Given the description of an element on the screen output the (x, y) to click on. 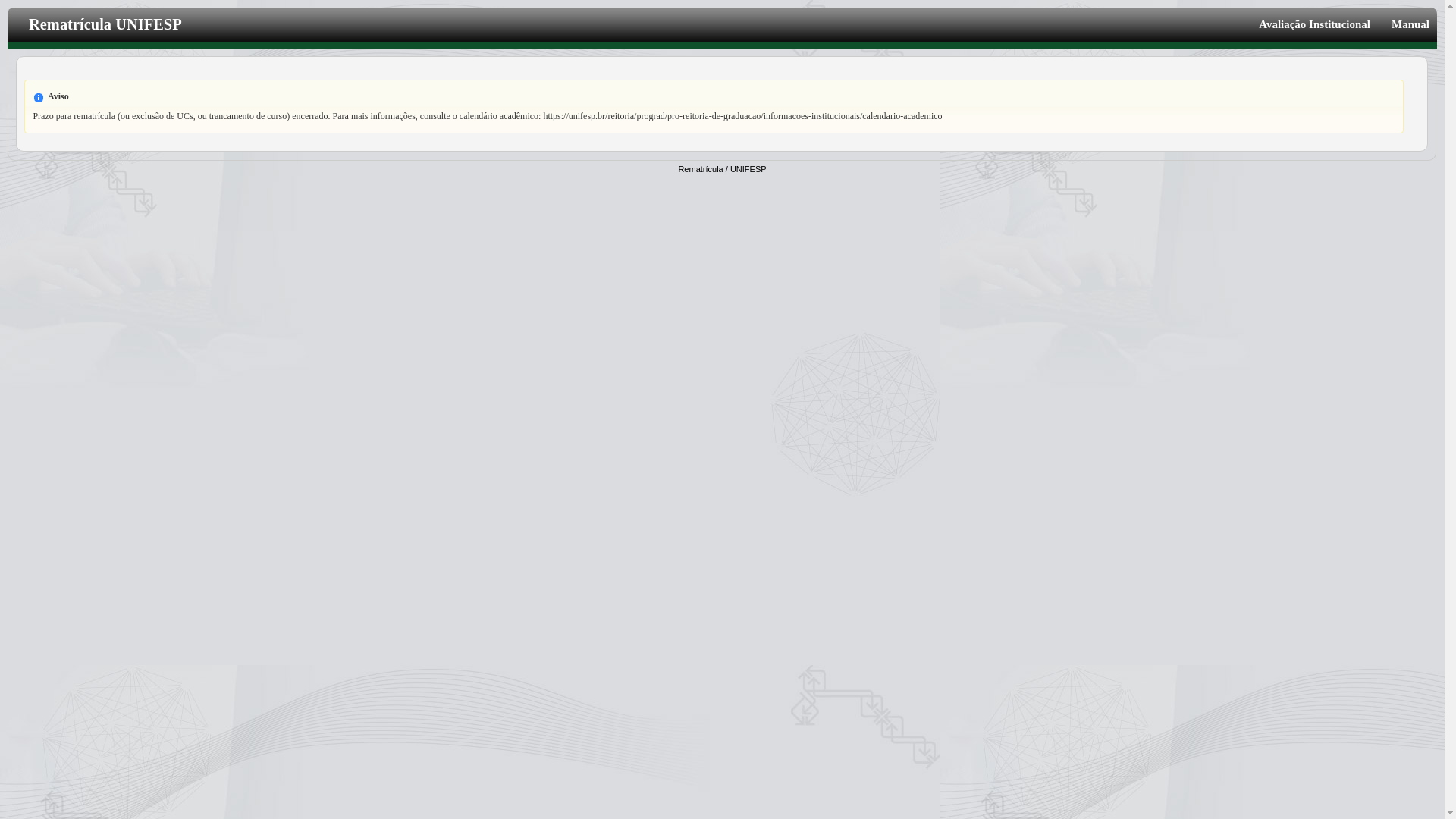
Manual Element type: text (1404, 24)
